Given the description of an element on the screen output the (x, y) to click on. 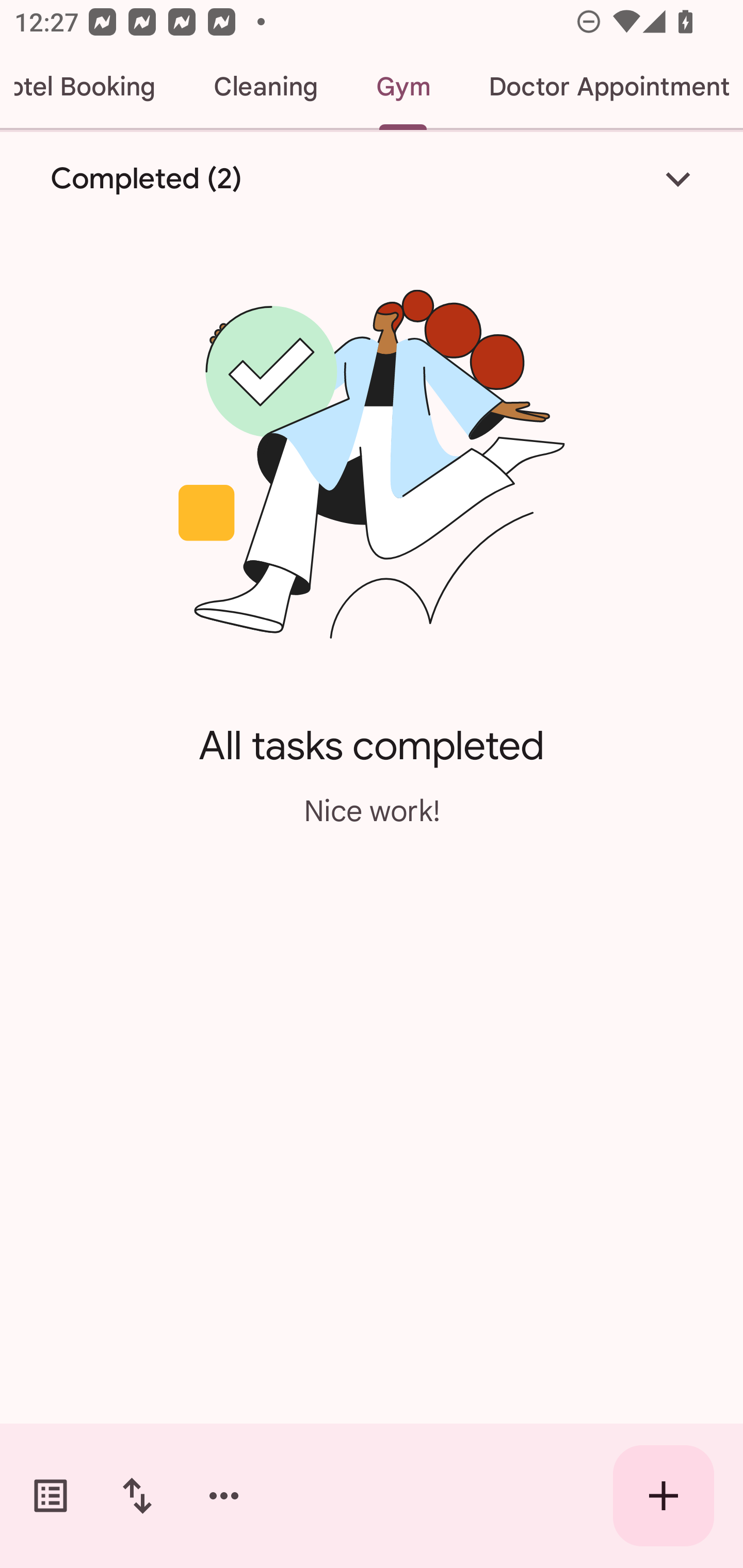
Hotel Booking (92, 86)
Cleaning (265, 86)
Doctor Appointment (601, 86)
Completed (2) (371, 178)
Switch task lists (50, 1495)
Create new task (663, 1495)
Change sort order (136, 1495)
More options (223, 1495)
